Given the description of an element on the screen output the (x, y) to click on. 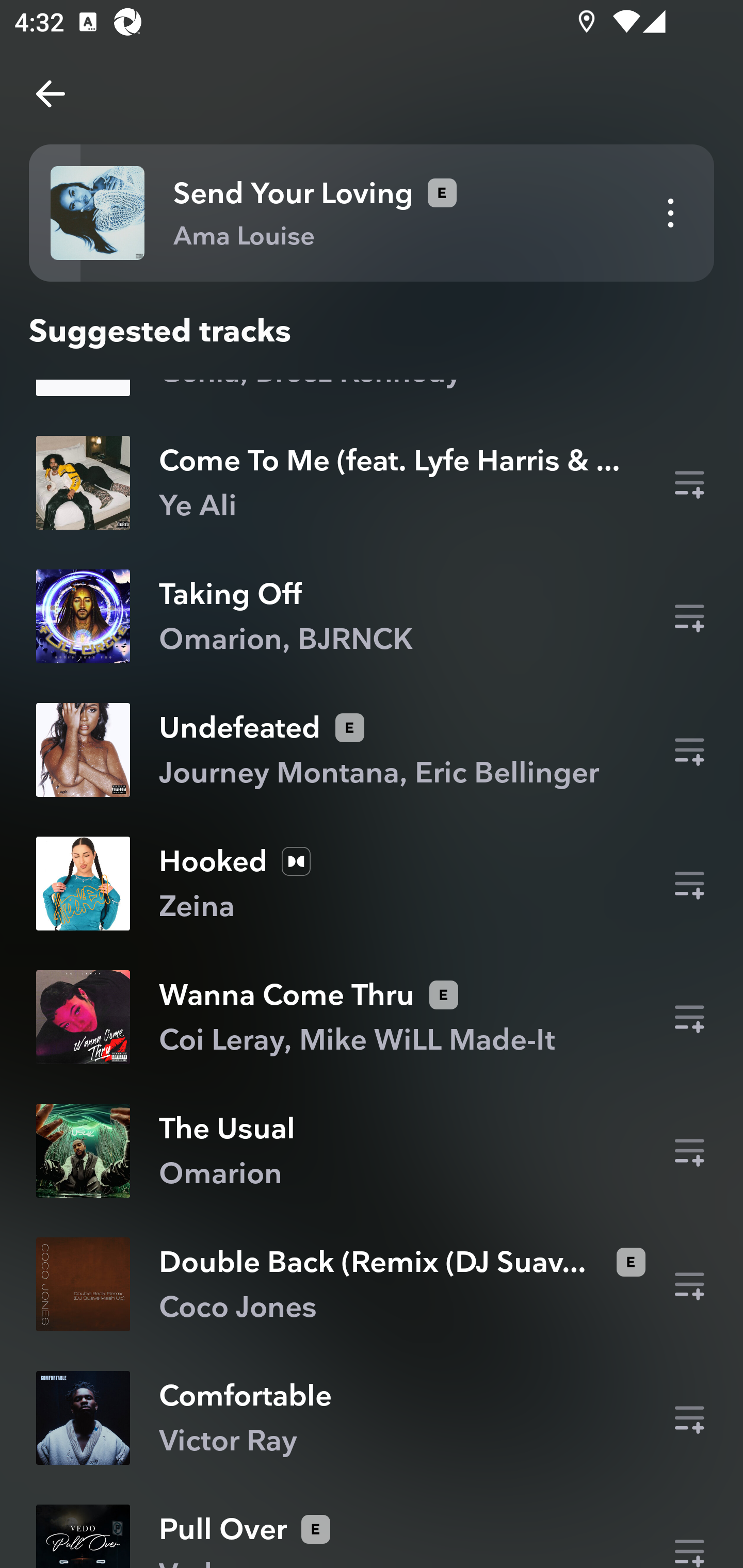
Send Your Loving Ama Louise (371, 213)
Taking Off Omarion, BJRNCK (371, 616)
Undefeated Journey Montana, Eric Bellinger (371, 749)
Hooked Zeina (371, 883)
Wanna Come Thru Coi Leray, Mike WiLL Made-It (371, 1017)
The Usual Omarion (371, 1150)
Double Back (Remix (DJ Suave Mash Up)) Coco Jones (371, 1284)
Comfortable Victor Ray (371, 1417)
Pull Over Vedo (371, 1531)
